Given the description of an element on the screen output the (x, y) to click on. 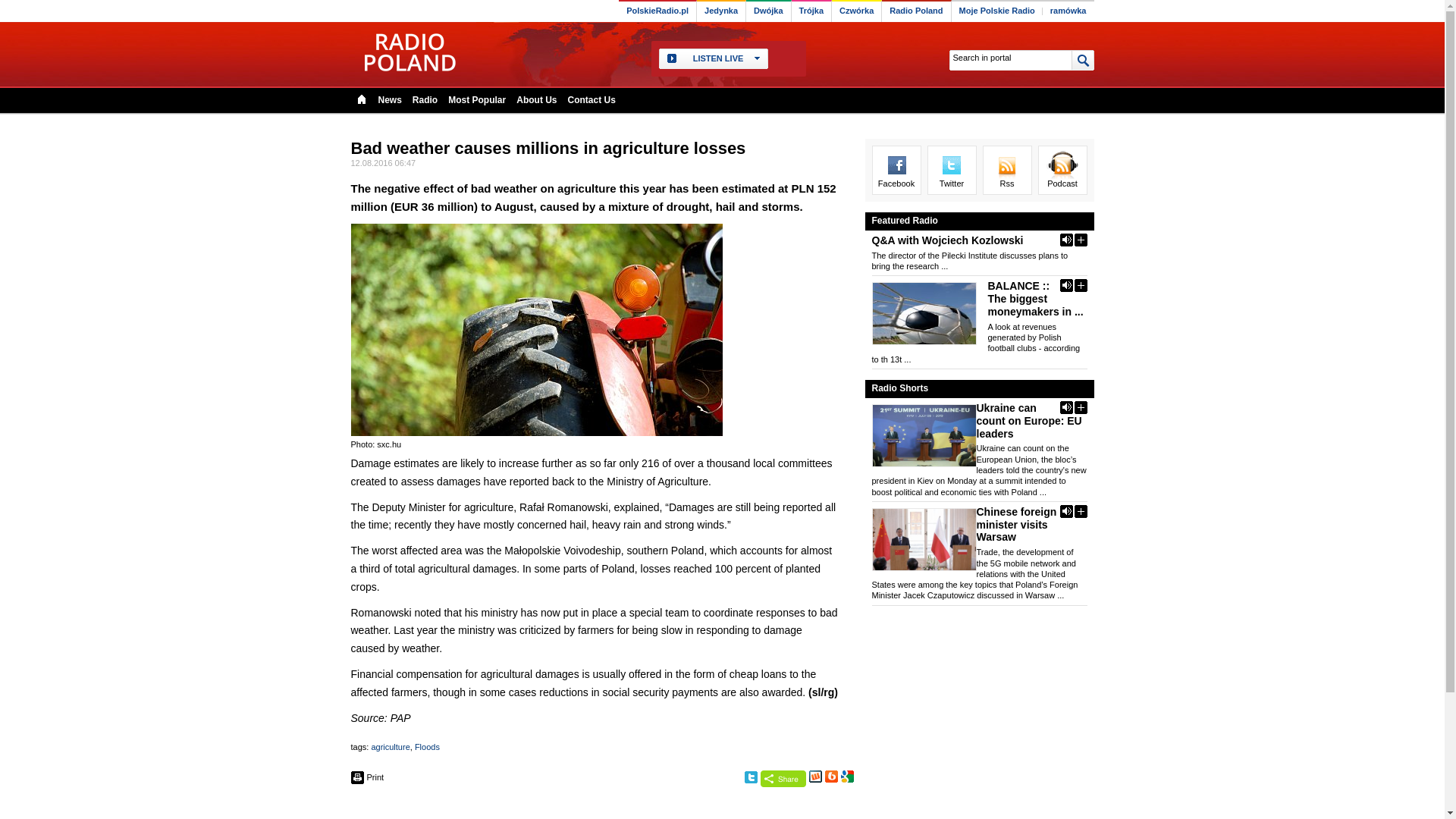
Radio Poland (916, 11)
Wykop (814, 776)
Search in portal (1008, 57)
Home (360, 99)
Search in portal (1008, 57)
PolskieRadio.pl (656, 11)
Radio Poland (916, 11)
Moje Polskie Radio (997, 11)
Contact Us (591, 99)
Polskie Radio Dla Zagranicy (408, 52)
Polskie Radio (656, 11)
News (389, 99)
Jedynka (721, 11)
Floods (426, 746)
About Us (536, 99)
